Given the description of an element on the screen output the (x, y) to click on. 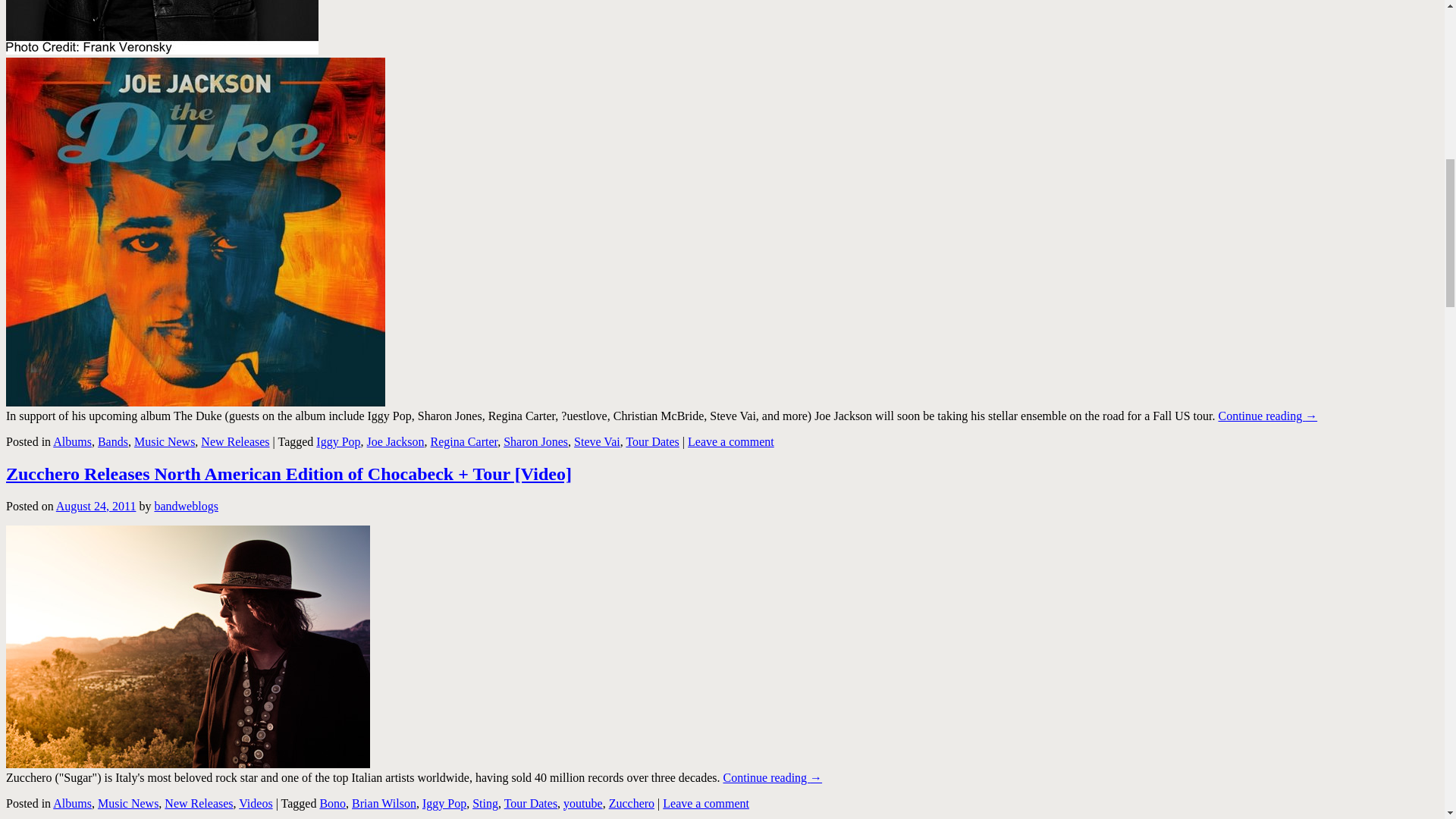
Joe Jackson (161, 27)
New Releases (234, 440)
Steve Vai (596, 440)
View all posts in Albums (71, 440)
Music News (127, 802)
New Releases (198, 802)
Albums (71, 802)
Joe Jackson (395, 440)
Albums (71, 440)
Videos (255, 802)
12:25 pm (96, 504)
Sharon Jones (535, 440)
bandweblogs (185, 504)
Iggy Pop (337, 440)
View all posts in Music News (164, 440)
